Given the description of an element on the screen output the (x, y) to click on. 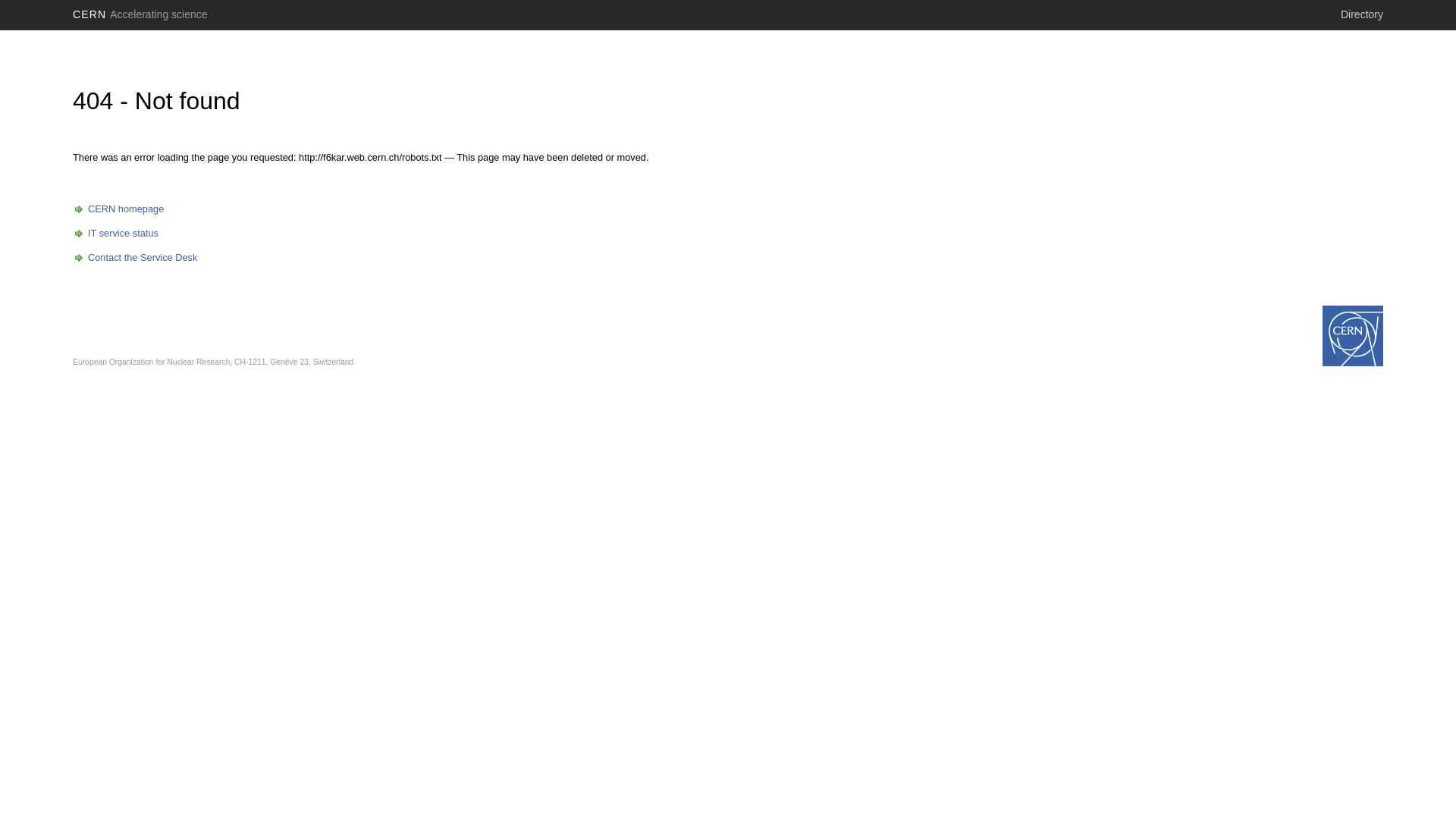
www.cern.ch Element type: hover (1352, 335)
Contact the Service Desk Element type: text (134, 257)
Directory Element type: text (1361, 14)
IT service status Element type: text (115, 232)
CERN homepage Element type: text (117, 208)
CERN Accelerating science Element type: text (139, 14)
